Given the description of an element on the screen output the (x, y) to click on. 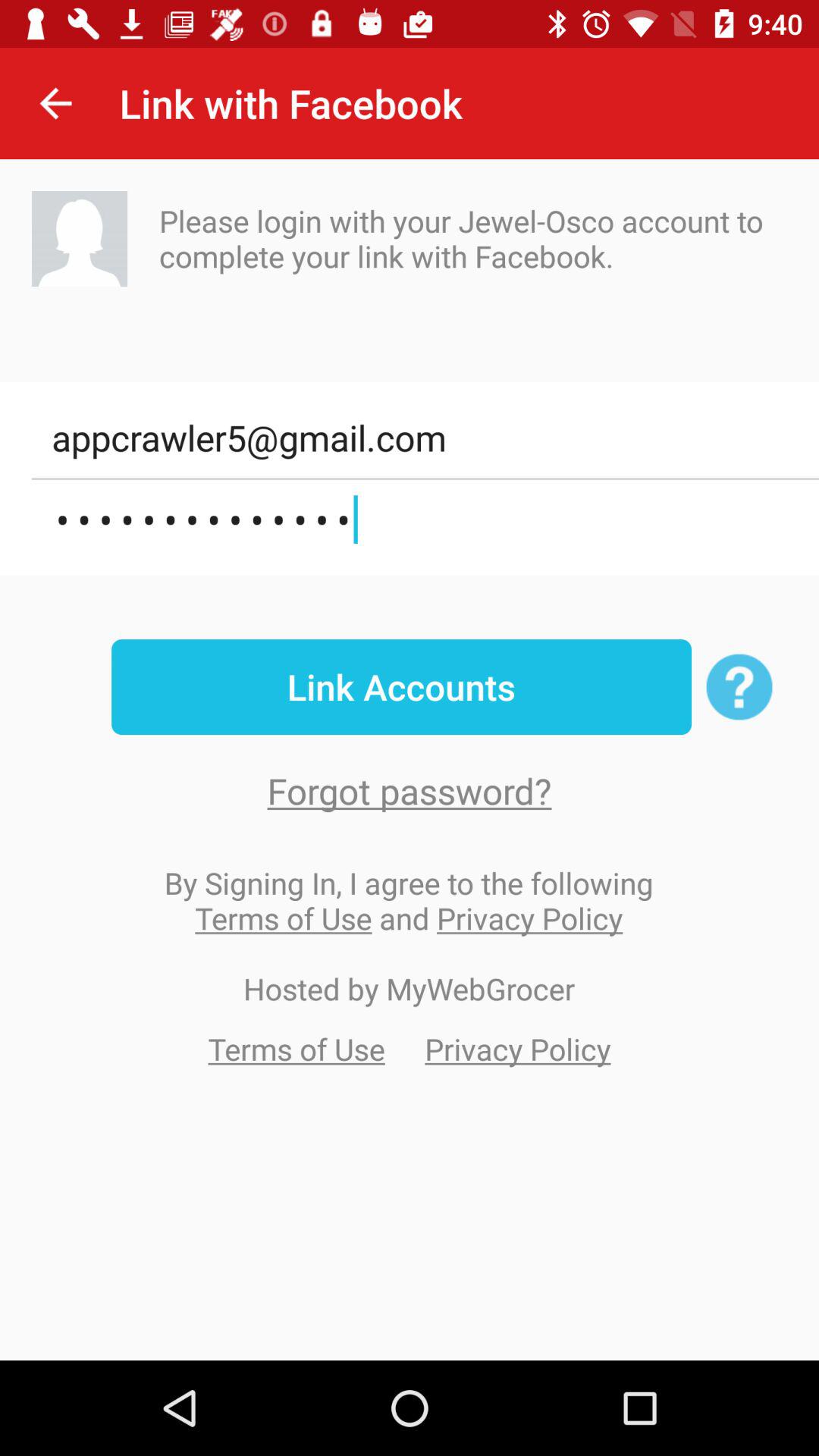
open the item below the appcrawler3116 icon (401, 686)
